Given the description of an element on the screen output the (x, y) to click on. 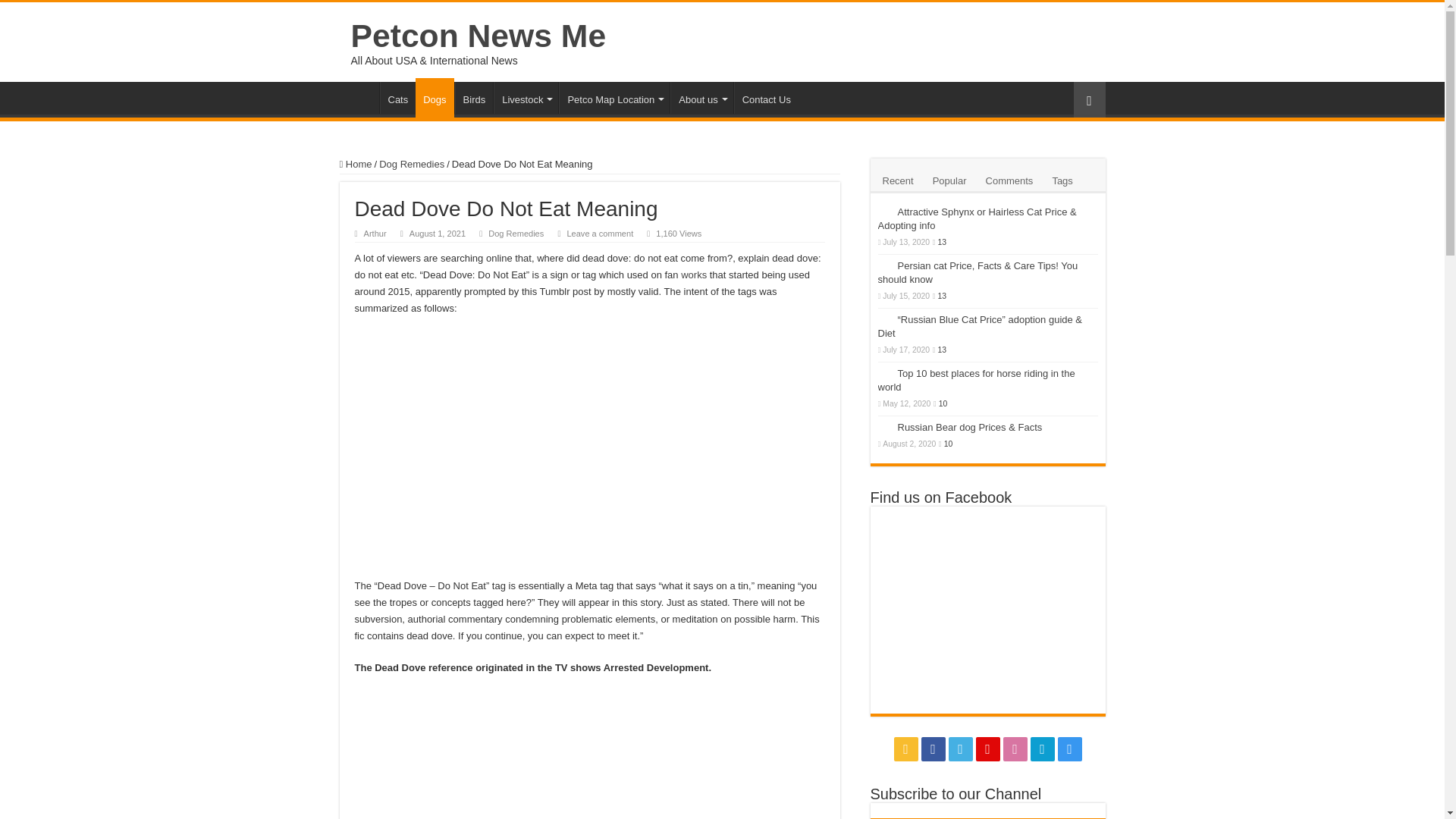
Home (355, 163)
Petco Map Location (614, 97)
Arthur (375, 233)
Dog Remedies (411, 163)
Petcon News Me (477, 35)
Contact Us (765, 97)
Dogs (433, 97)
Livestock (525, 97)
Cats (396, 97)
Birds (473, 97)
